Given the description of an element on the screen output the (x, y) to click on. 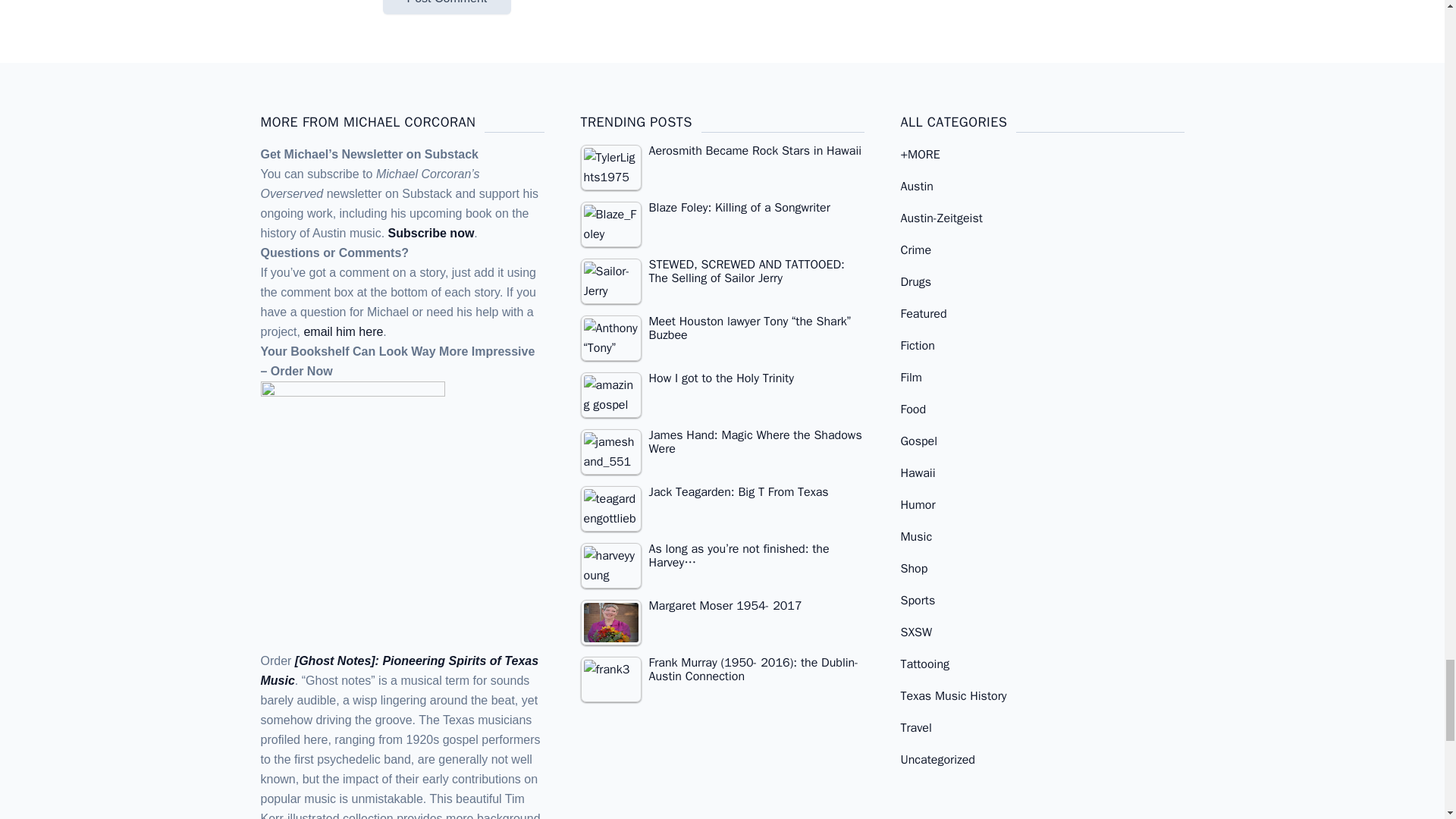
STEWED, SCREWED AND TATTOOED: The Selling of Sailor Jerry (611, 280)
James Hand: Magic Where the Shadows Were (611, 452)
How I got to the Holy Trinity (611, 394)
email him here (342, 331)
Aerosmith Became Rock Stars in Hawaii (722, 153)
Blaze Foley: Killing of a Songwriter (722, 210)
Post Comment (446, 7)
Aerosmith Became Rock Stars in Hawaii (611, 167)
Subscribe now (431, 232)
Meet Houston lawyer Tony "the Shark" Buzbee (611, 338)
